Given the description of an element on the screen output the (x, y) to click on. 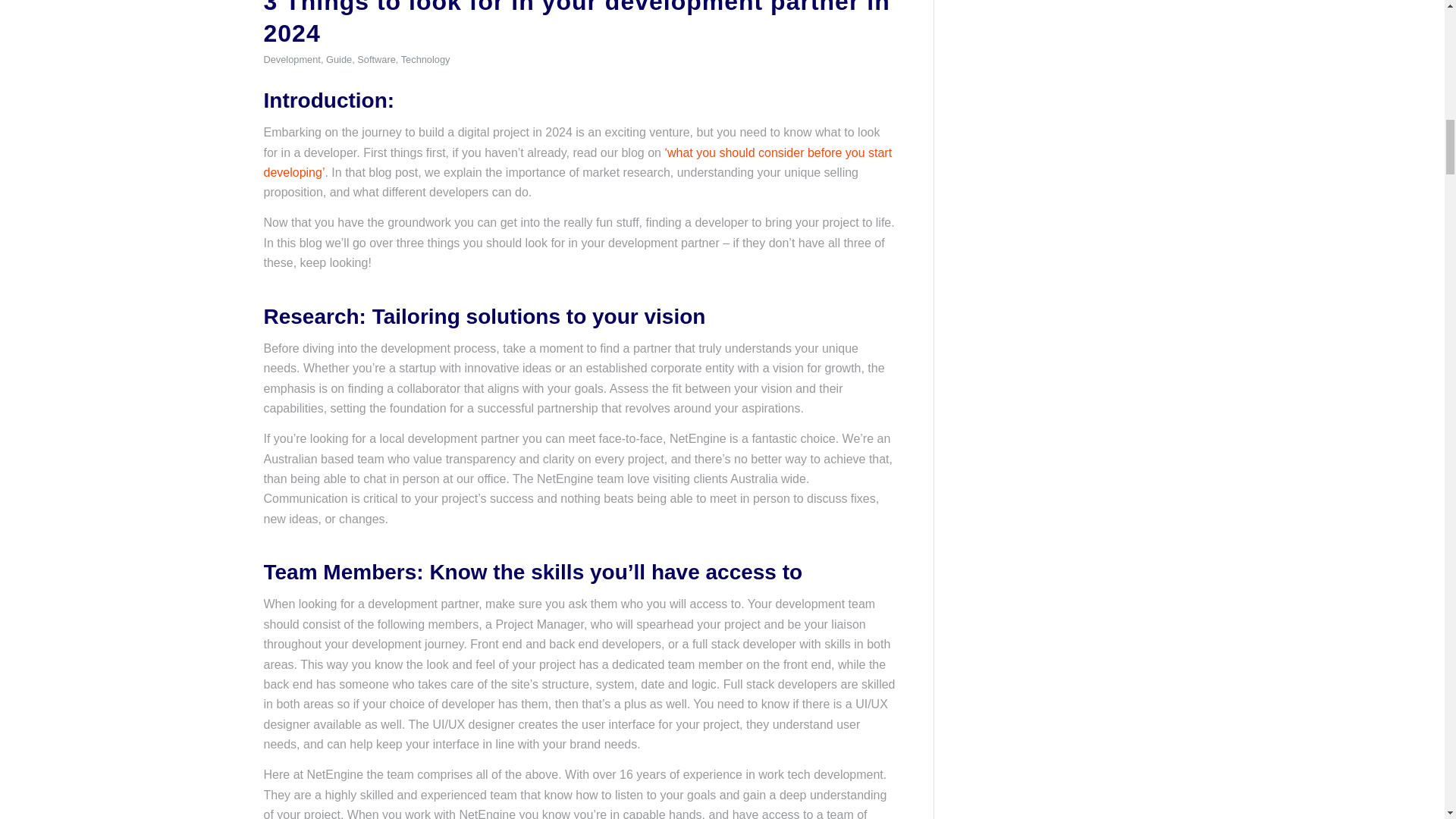
3 Things to look for in your development partner in 2024 (576, 23)
Guide (339, 59)
Development (291, 59)
Software (376, 59)
Technology (425, 59)
